Given the description of an element on the screen output the (x, y) to click on. 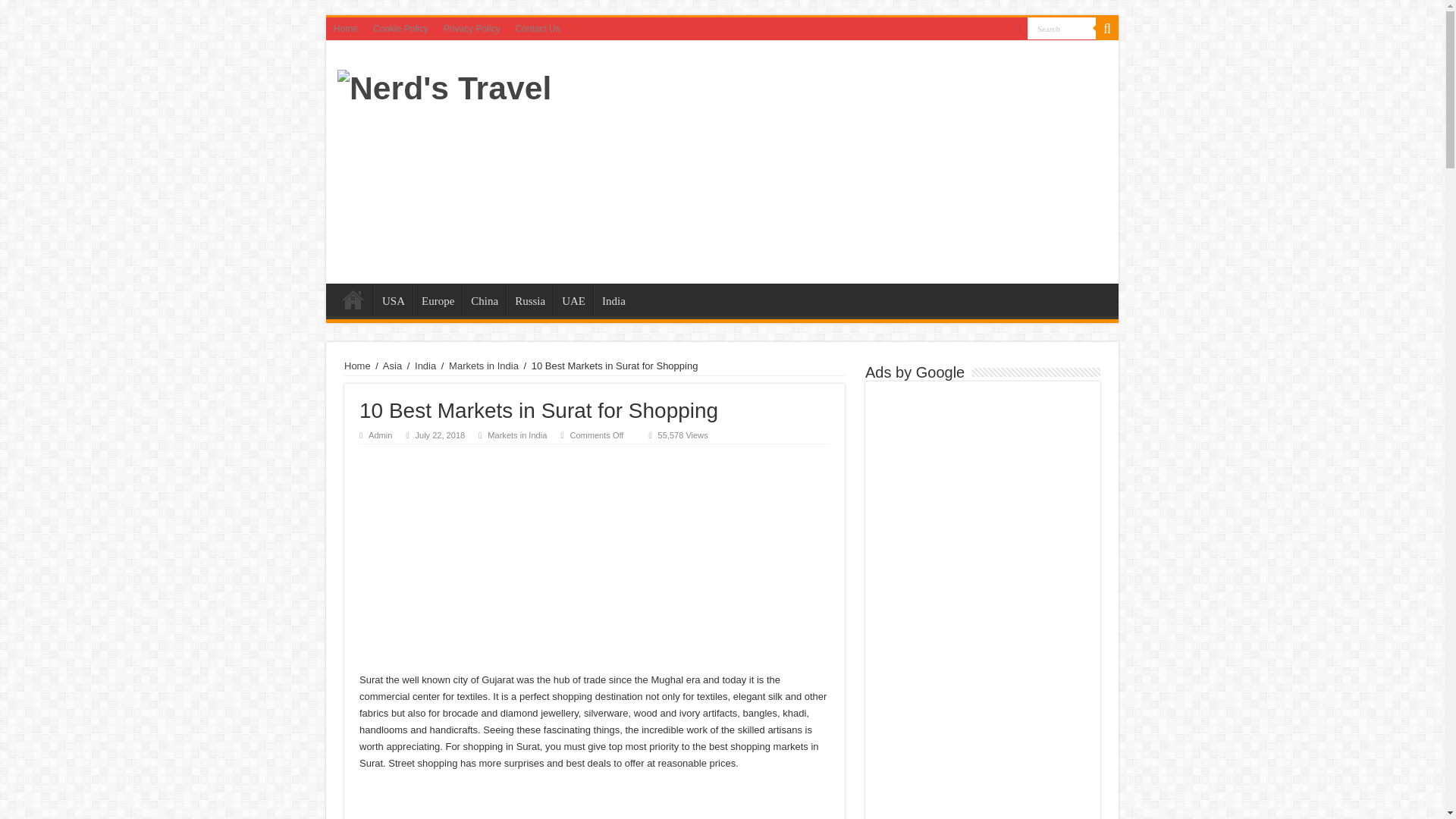
Search (1061, 28)
Cookie Policy (400, 28)
India (424, 365)
India (613, 299)
Advertisement (830, 162)
Markets in India (483, 365)
Markets in India (517, 434)
Search (1107, 28)
Home (357, 365)
Search (1061, 28)
